Given the description of an element on the screen output the (x, y) to click on. 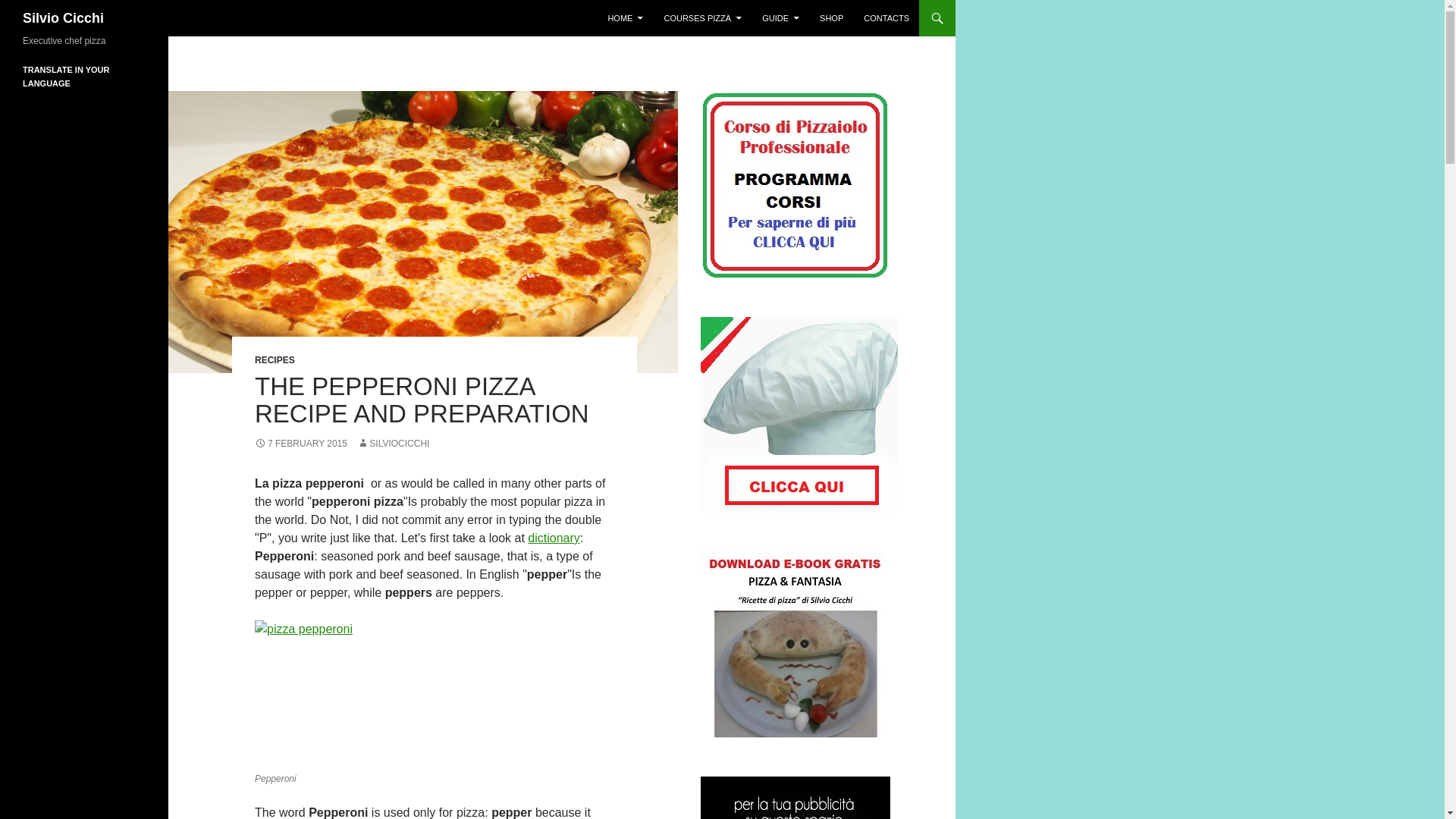
HOME (625, 18)
COURSES PIZZA (702, 18)
GUIDE (780, 18)
dictionary (553, 537)
Silvio Cicchi (63, 17)
CONTACTS (886, 18)
SILVIOCICCHI (392, 443)
Dictionary wikipedia (553, 537)
7 FEBRUARY 2015 (300, 443)
SHOP (830, 18)
